Given the description of an element on the screen output the (x, y) to click on. 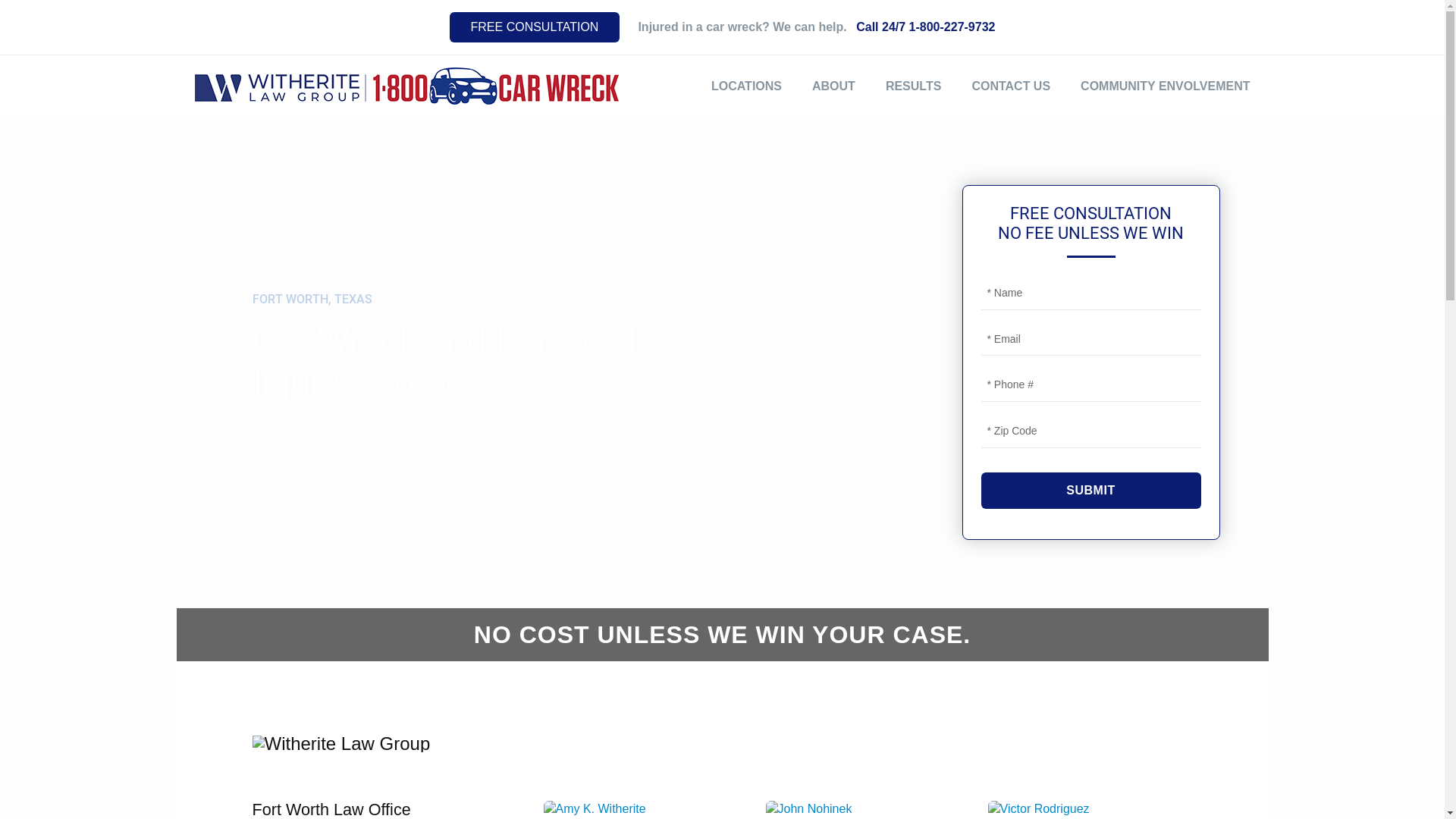
FREE CONSULTATION Element type: text (534, 27)
Call 24/7 1-800-227-9732 Element type: text (925, 26)
SUBMIT Element type: text (1091, 490)
CONTACT US Element type: text (1010, 86)
COMMUNITY ENVOLVEMENT Element type: text (1164, 86)
LOCATIONS Element type: text (746, 86)
RESULTS Element type: text (913, 86)
ABOUT Element type: text (833, 86)
